Given the description of an element on the screen output the (x, y) to click on. 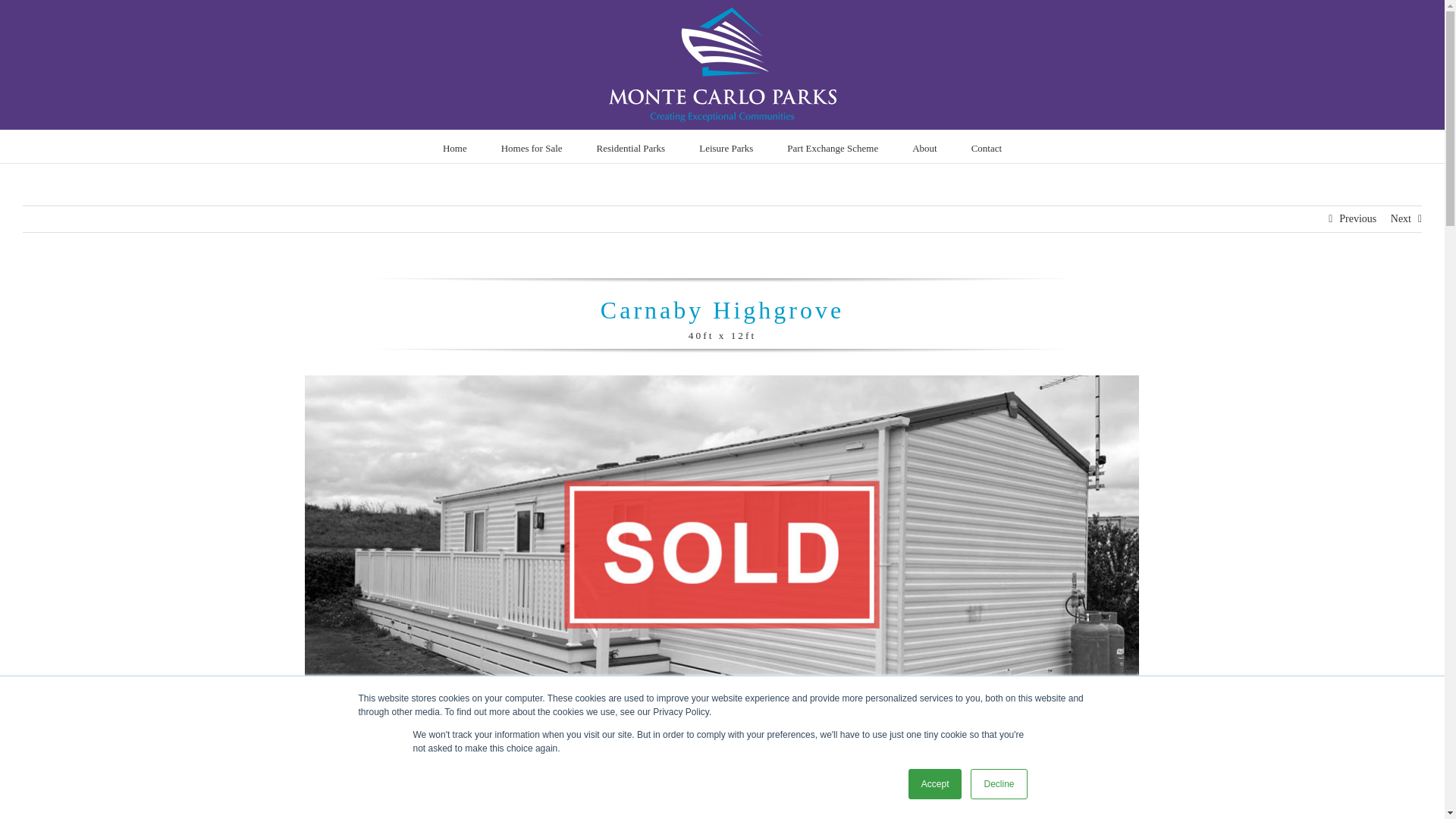
Contact (986, 146)
Residential Parks (630, 146)
Accept (935, 784)
Homes for Sale (531, 146)
Leisure Parks (725, 146)
Decline (998, 784)
Part Exchange Scheme (832, 146)
